Given the description of an element on the screen output the (x, y) to click on. 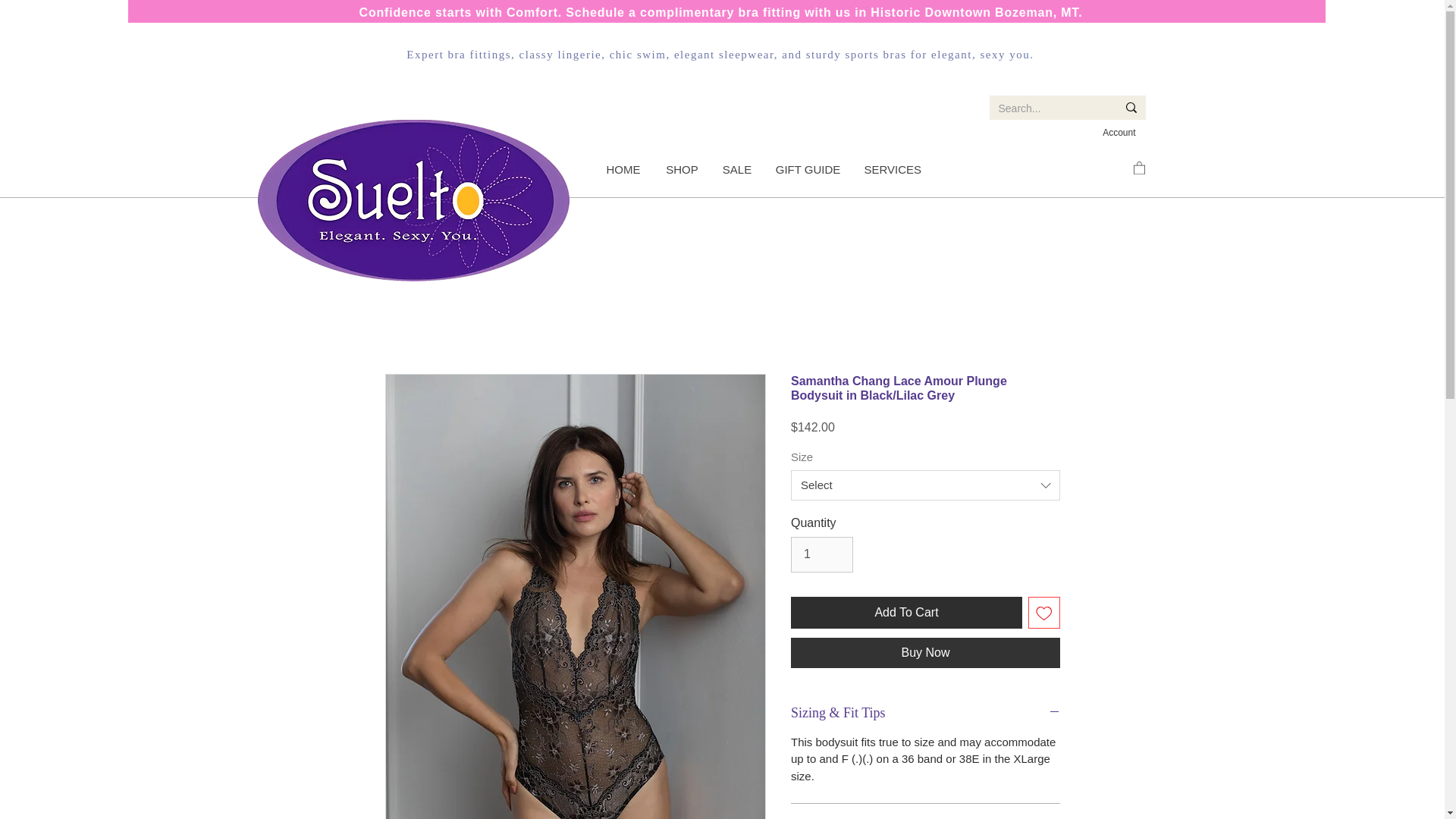
1 (821, 554)
SHOP (681, 169)
GIFT GUIDE (806, 169)
SALE (736, 169)
Select (924, 485)
SERVICES (891, 169)
Account (1118, 133)
Add To Cart (906, 612)
HOME (622, 169)
